Given the description of an element on the screen output the (x, y) to click on. 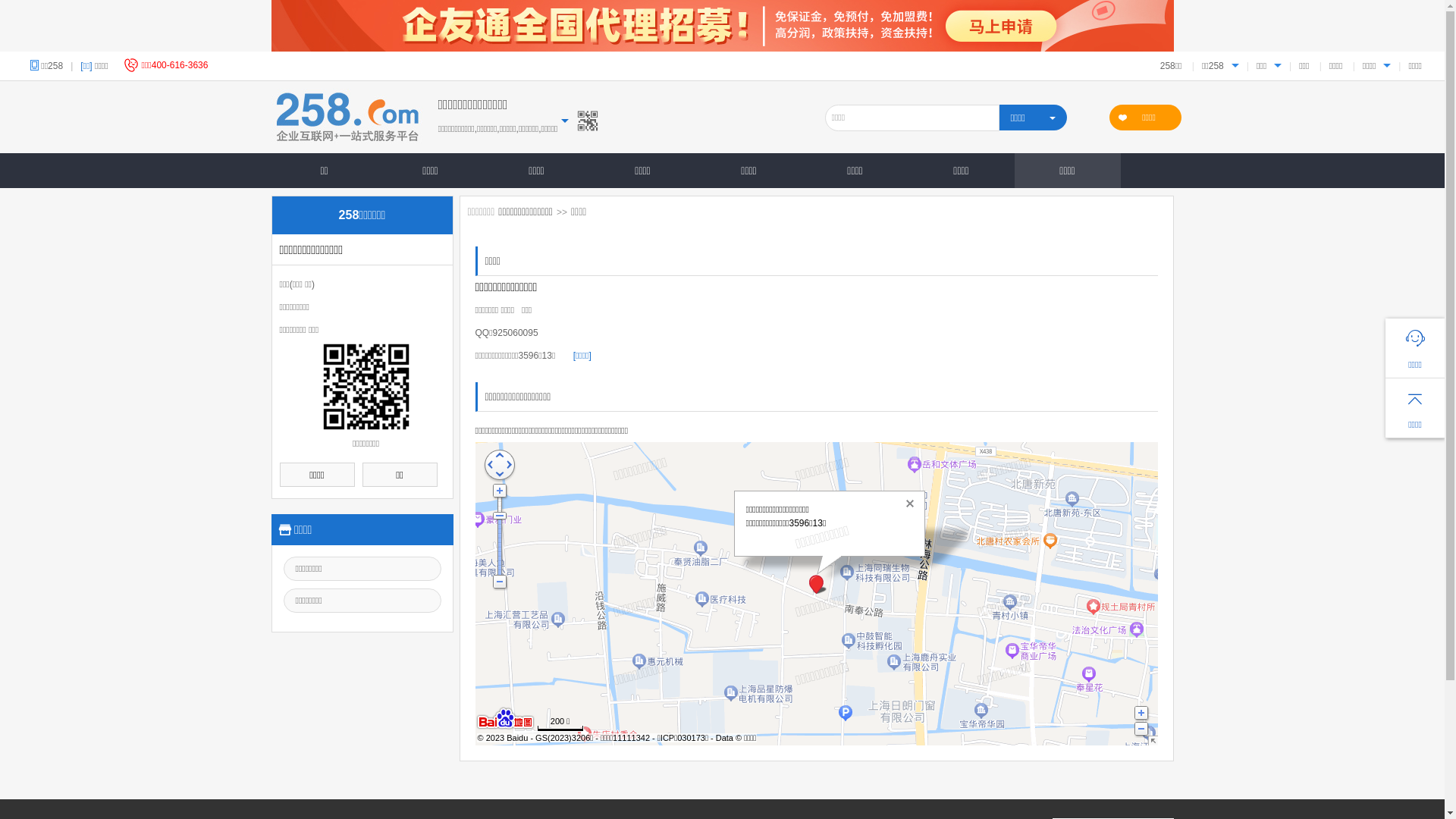
http://m.258jituan.com/shop-702148 Element type: hover (365, 386)
